Given the description of an element on the screen output the (x, y) to click on. 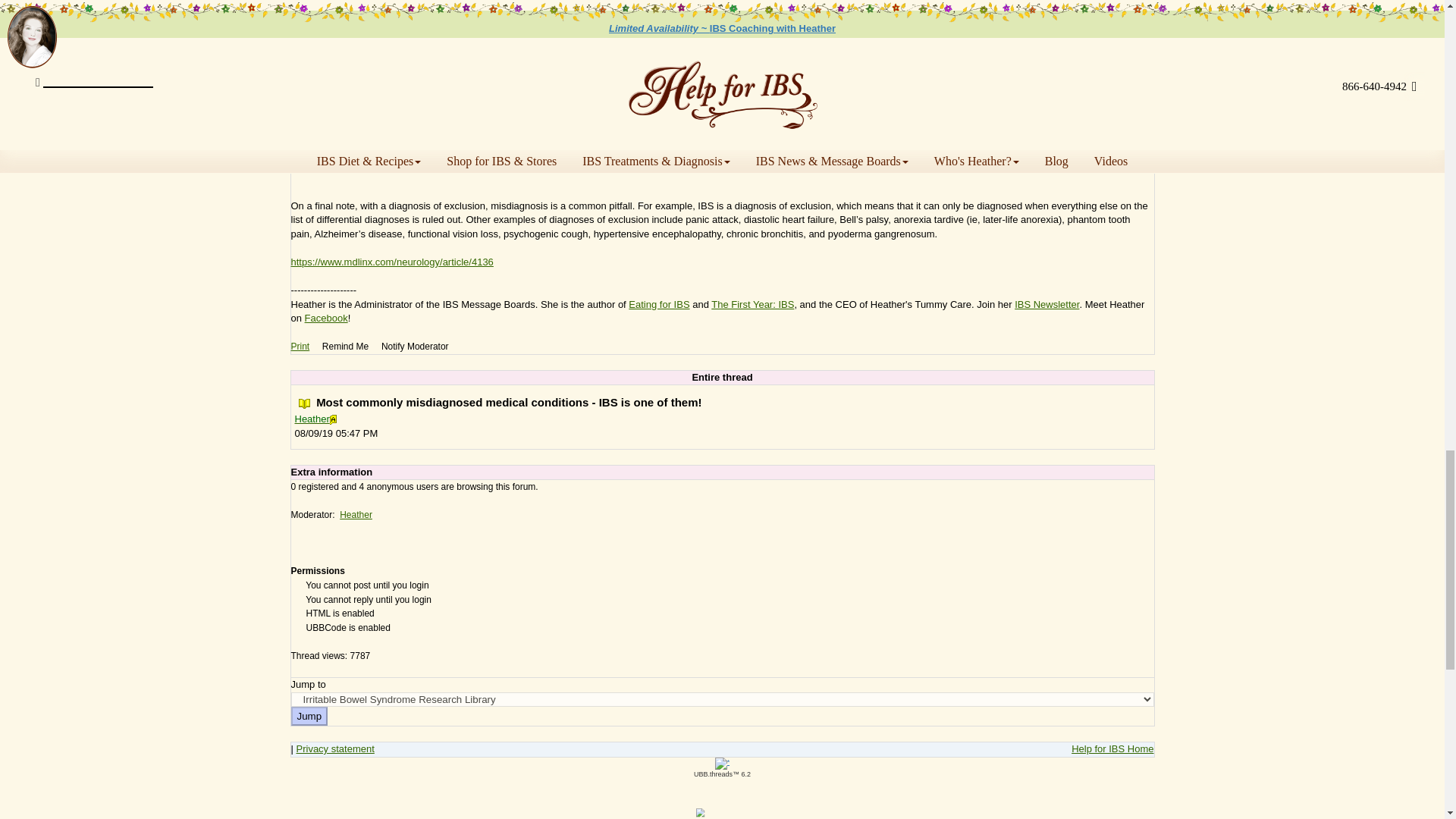
Jump (310, 715)
